Given the description of an element on the screen output the (x, y) to click on. 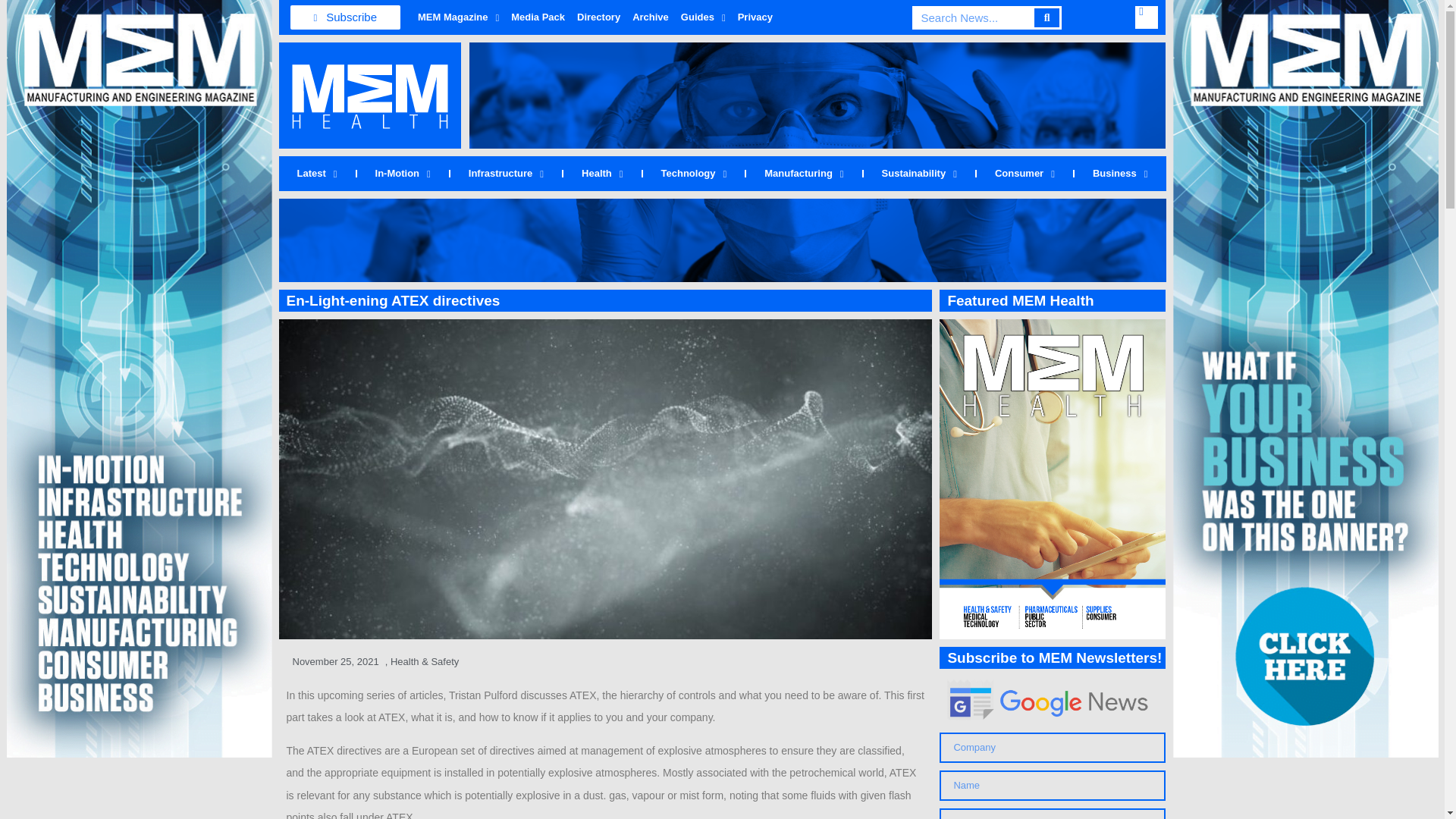
Directory (598, 17)
In-Motion (402, 173)
Guides (703, 17)
Subscribe (344, 17)
Latest (317, 173)
Archive (650, 17)
Privacy (755, 17)
MEM Magazine (458, 17)
Media Pack (537, 17)
